Given the description of an element on the screen output the (x, y) to click on. 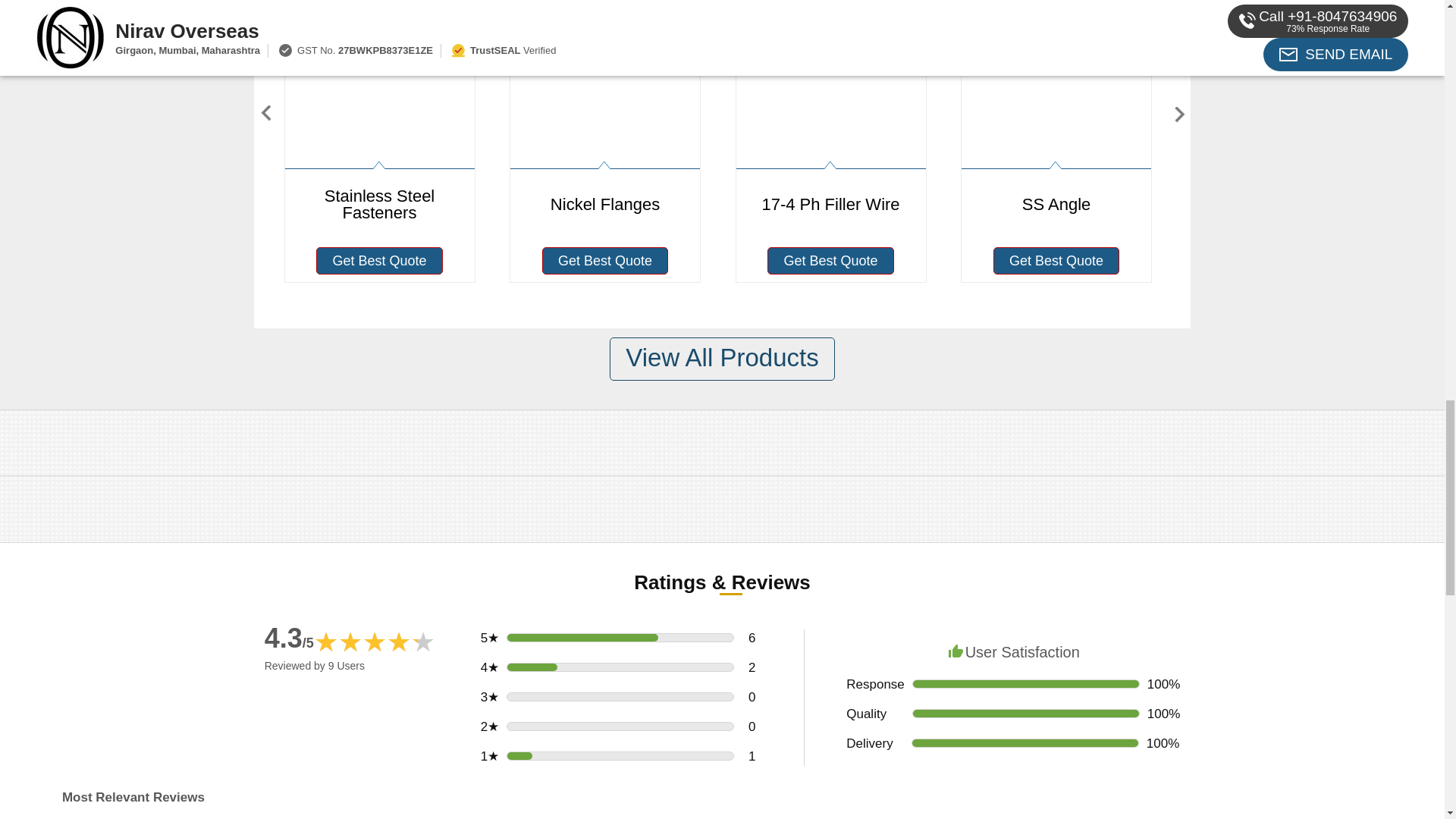
4.3 out of 5 Votes (289, 637)
